Given the description of an element on the screen output the (x, y) to click on. 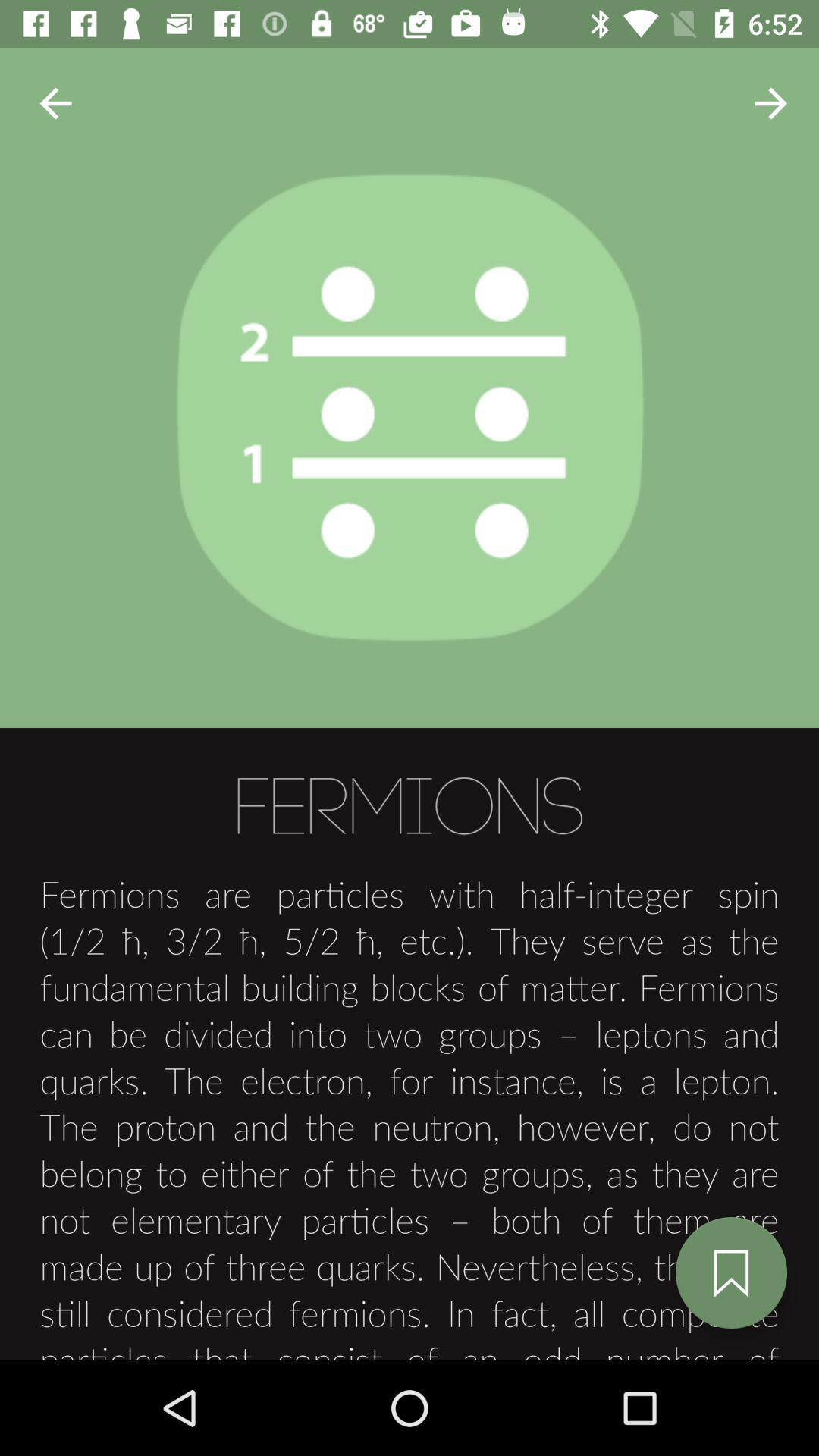
go back (55, 103)
